Given the description of an element on the screen output the (x, y) to click on. 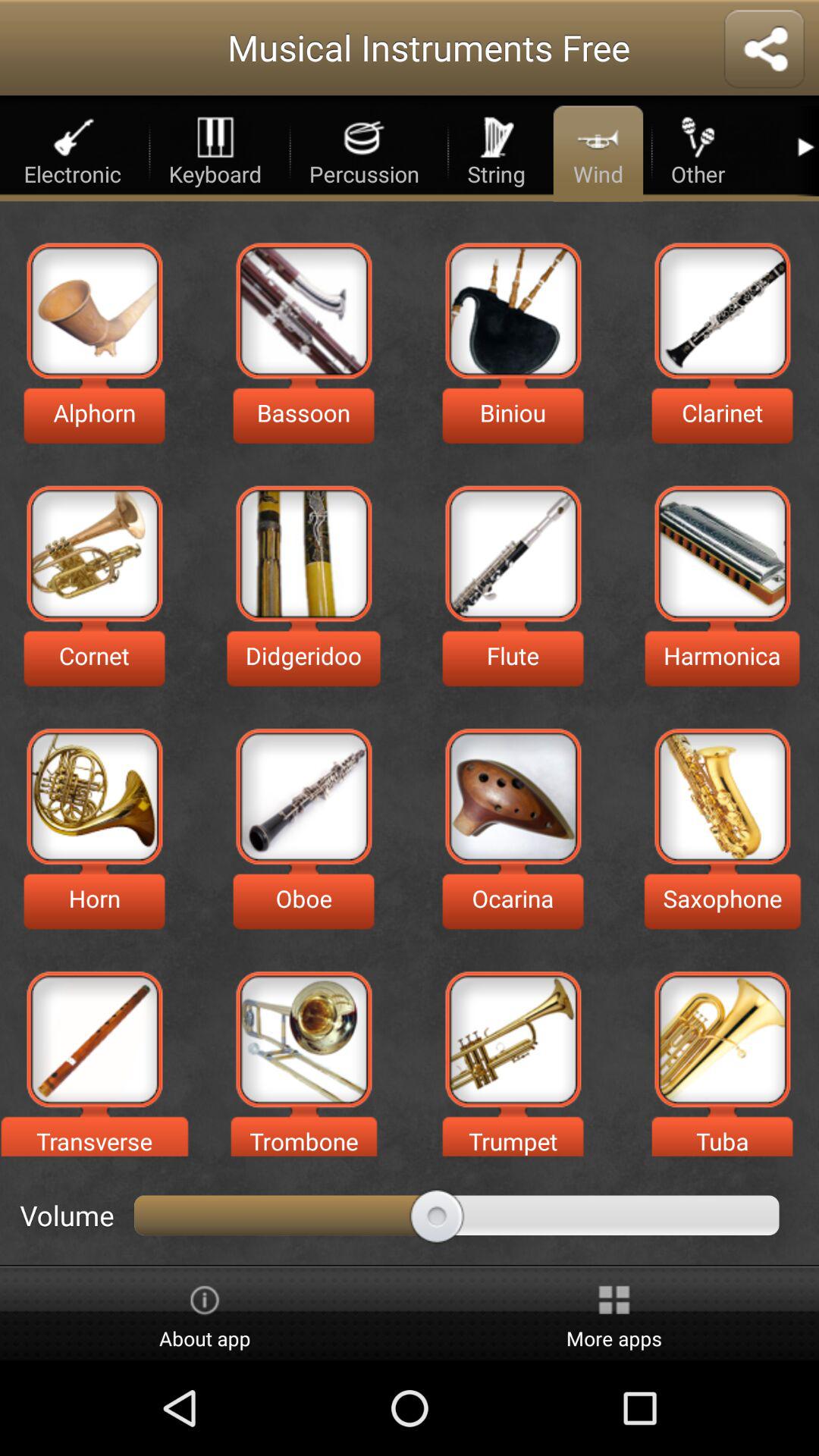
go to saxophone (722, 796)
